Given the description of an element on the screen output the (x, y) to click on. 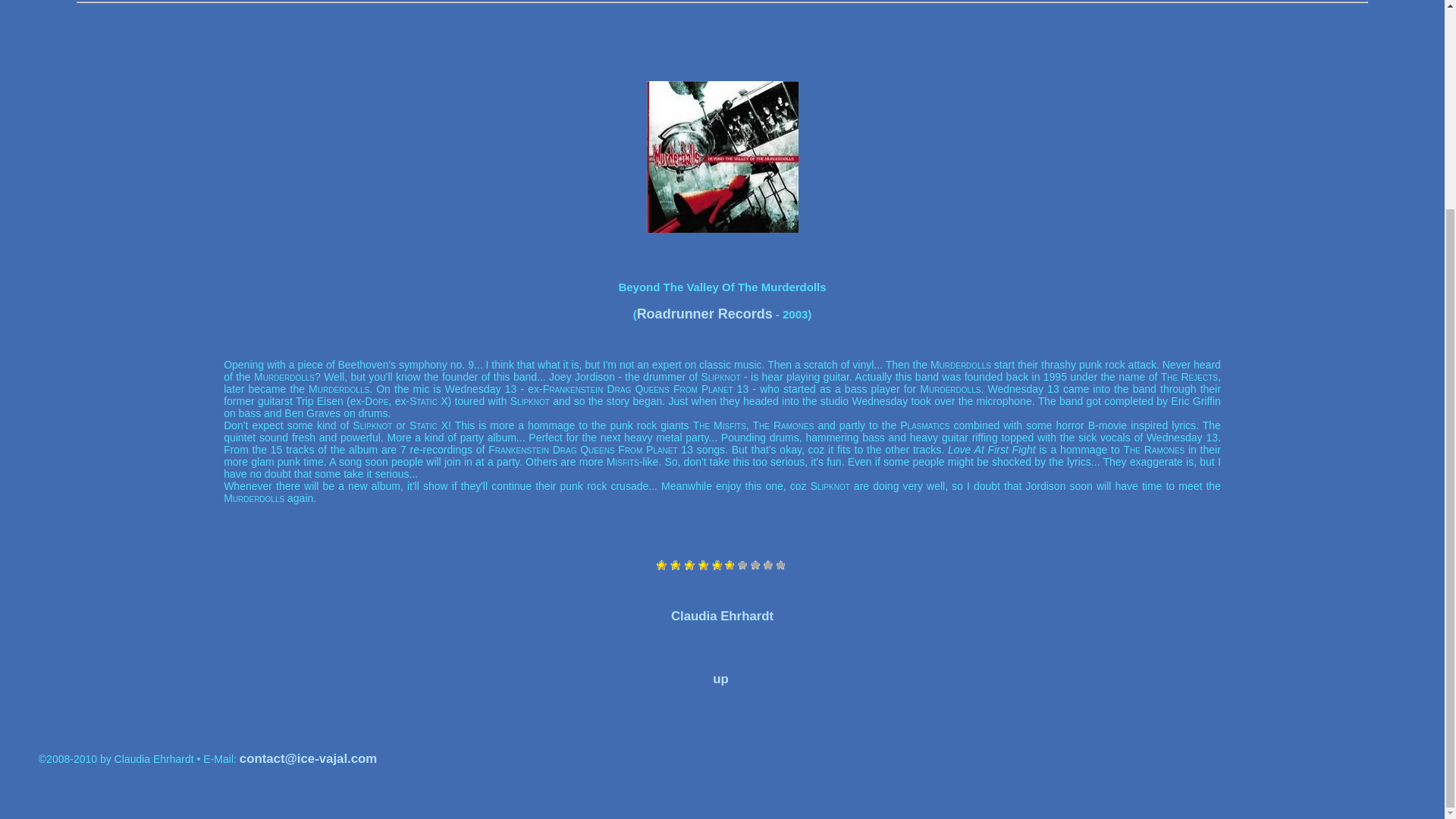
Claudia Ehrhardt (722, 616)
Roadrunner Records (705, 313)
up (721, 678)
